Given the description of an element on the screen output the (x, y) to click on. 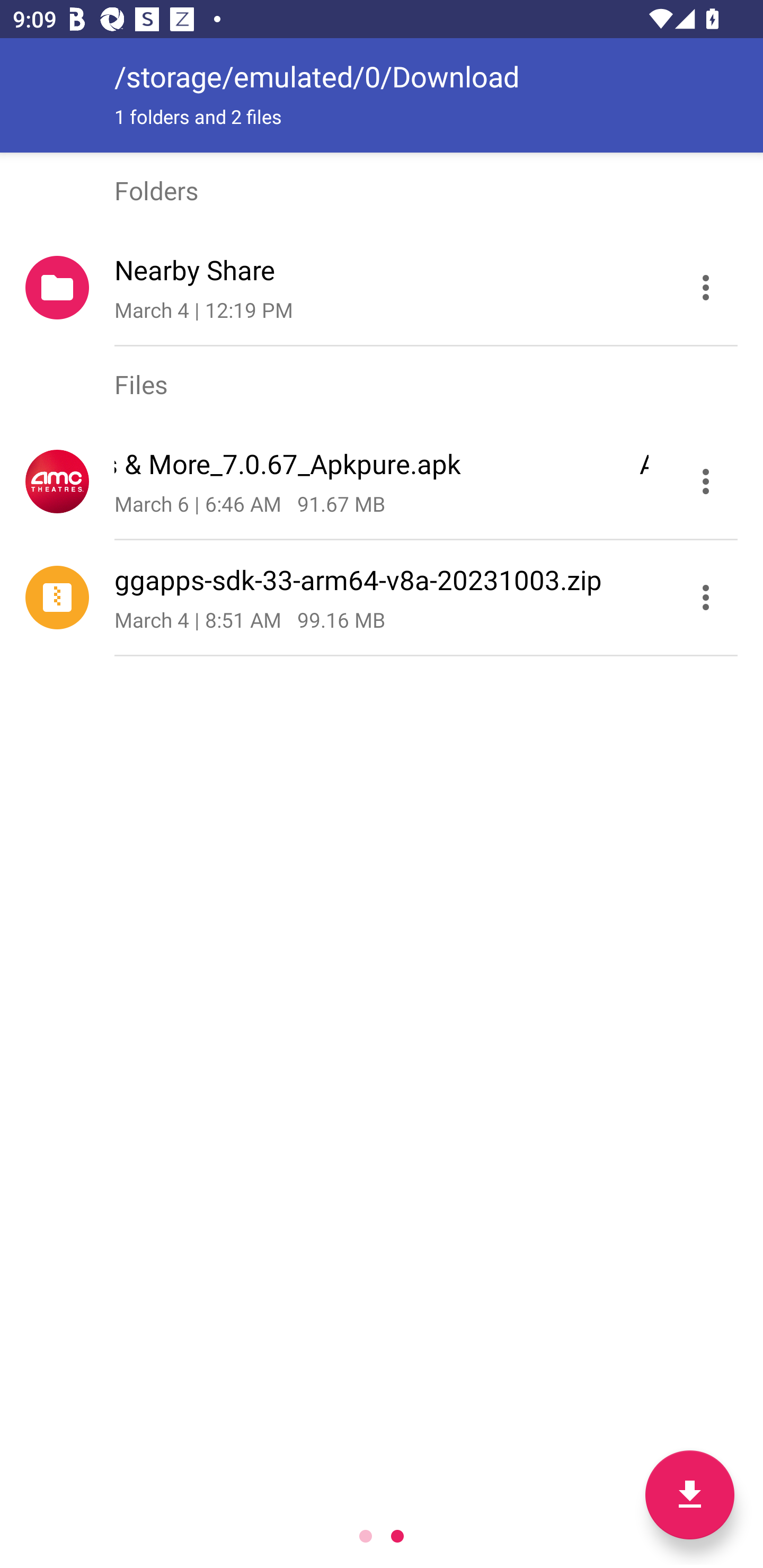
Nearby Share March 4 | 12:19 PM (381, 287)
